Given the description of an element on the screen output the (x, y) to click on. 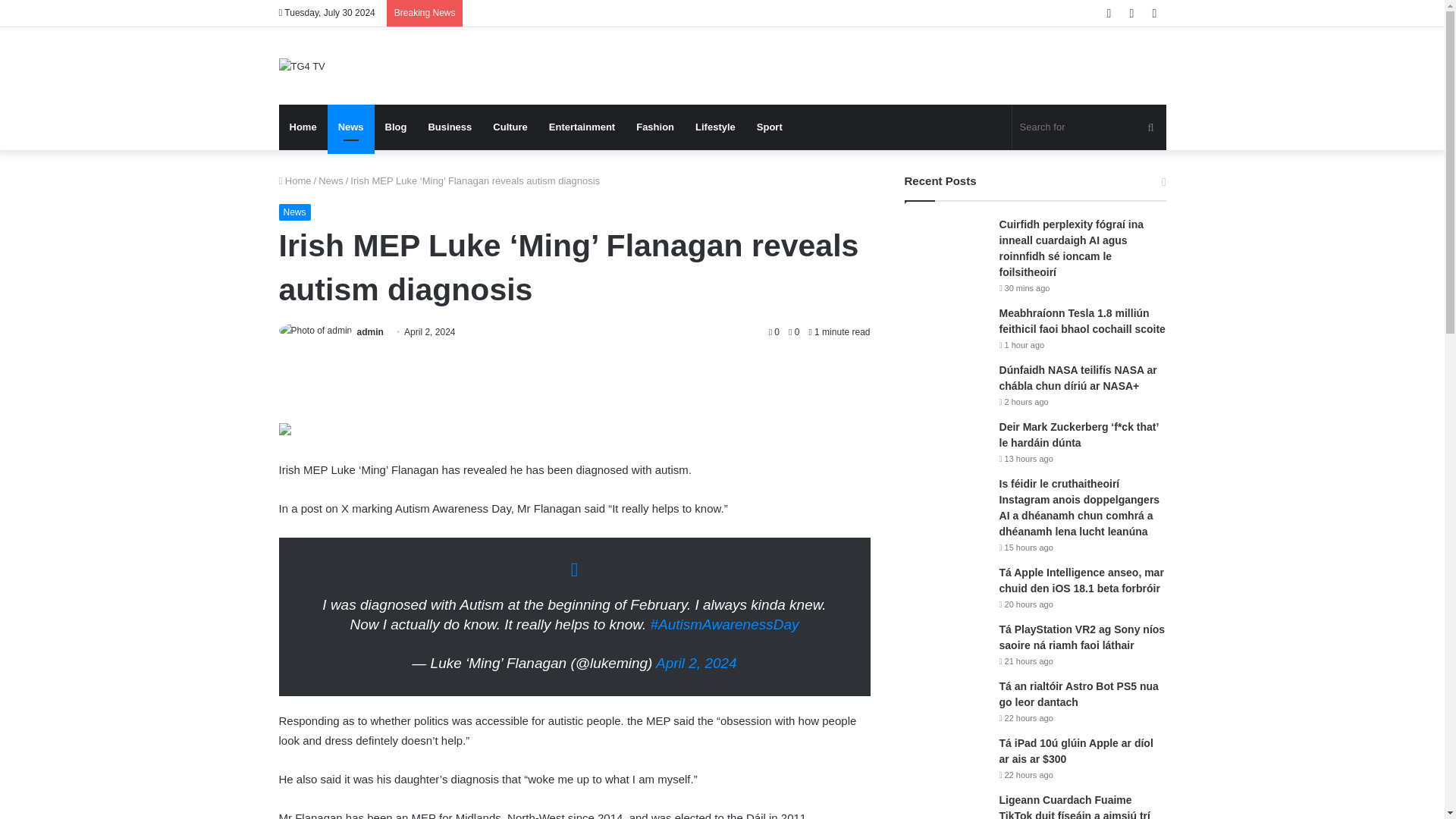
News (295, 211)
News (330, 180)
admin (370, 331)
Blog (395, 126)
April 2, 2024 (696, 662)
Culture (509, 126)
Entertainment (582, 126)
admin (370, 331)
Home (295, 180)
Fashion (655, 126)
Sport (769, 126)
Business (448, 126)
News (350, 126)
Search for (1088, 126)
TG4 TV (301, 65)
